Given the description of an element on the screen output the (x, y) to click on. 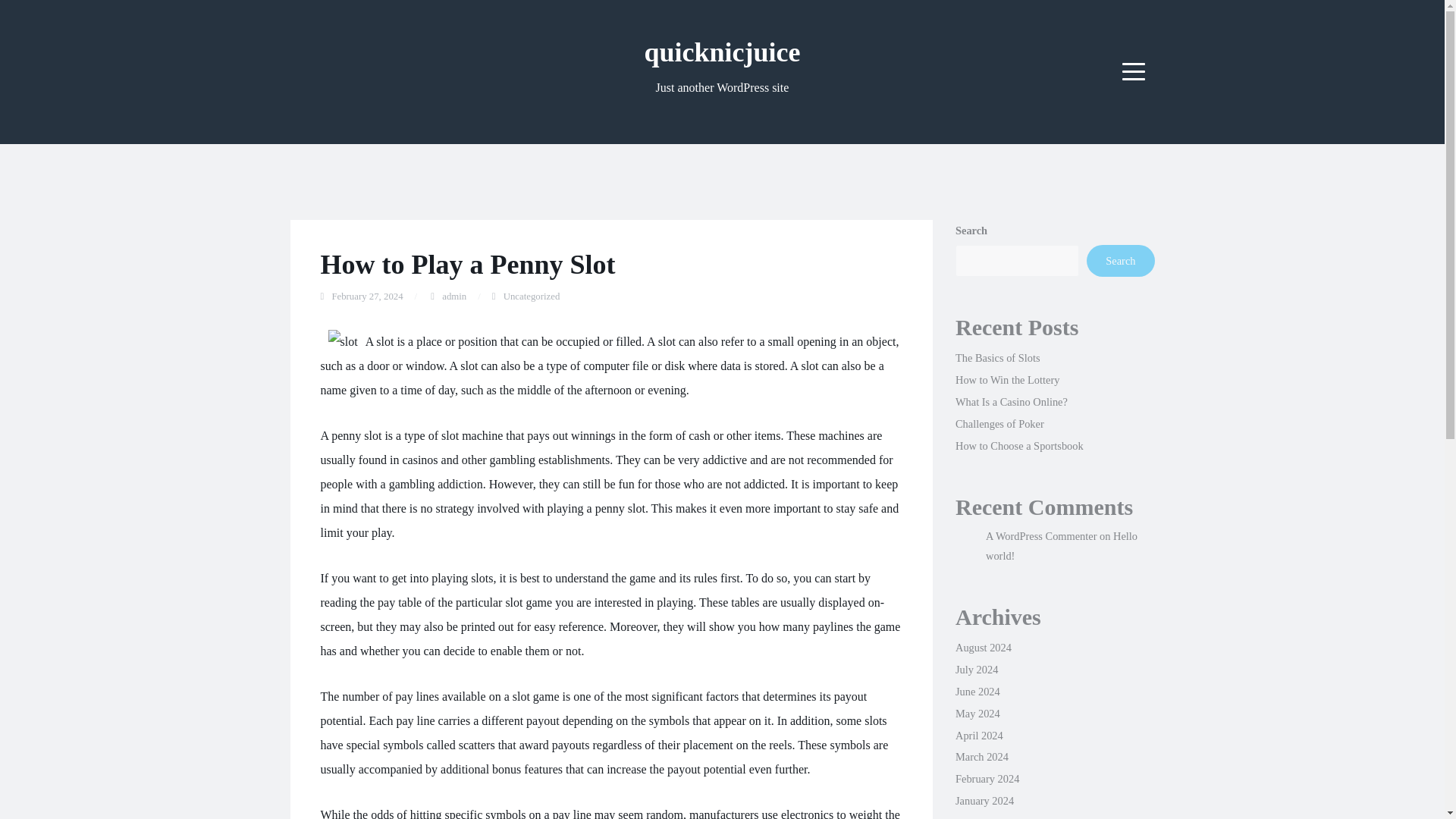
May 2024 (977, 713)
How to Win the Lottery (1007, 379)
July 2024 (976, 669)
January 2024 (984, 800)
April 2024 (979, 735)
March 2024 (982, 756)
February 27, 2024 (367, 296)
Search (1120, 260)
A WordPress Commenter (1040, 535)
What Is a Casino Online? (1011, 401)
